Given the description of an element on the screen output the (x, y) to click on. 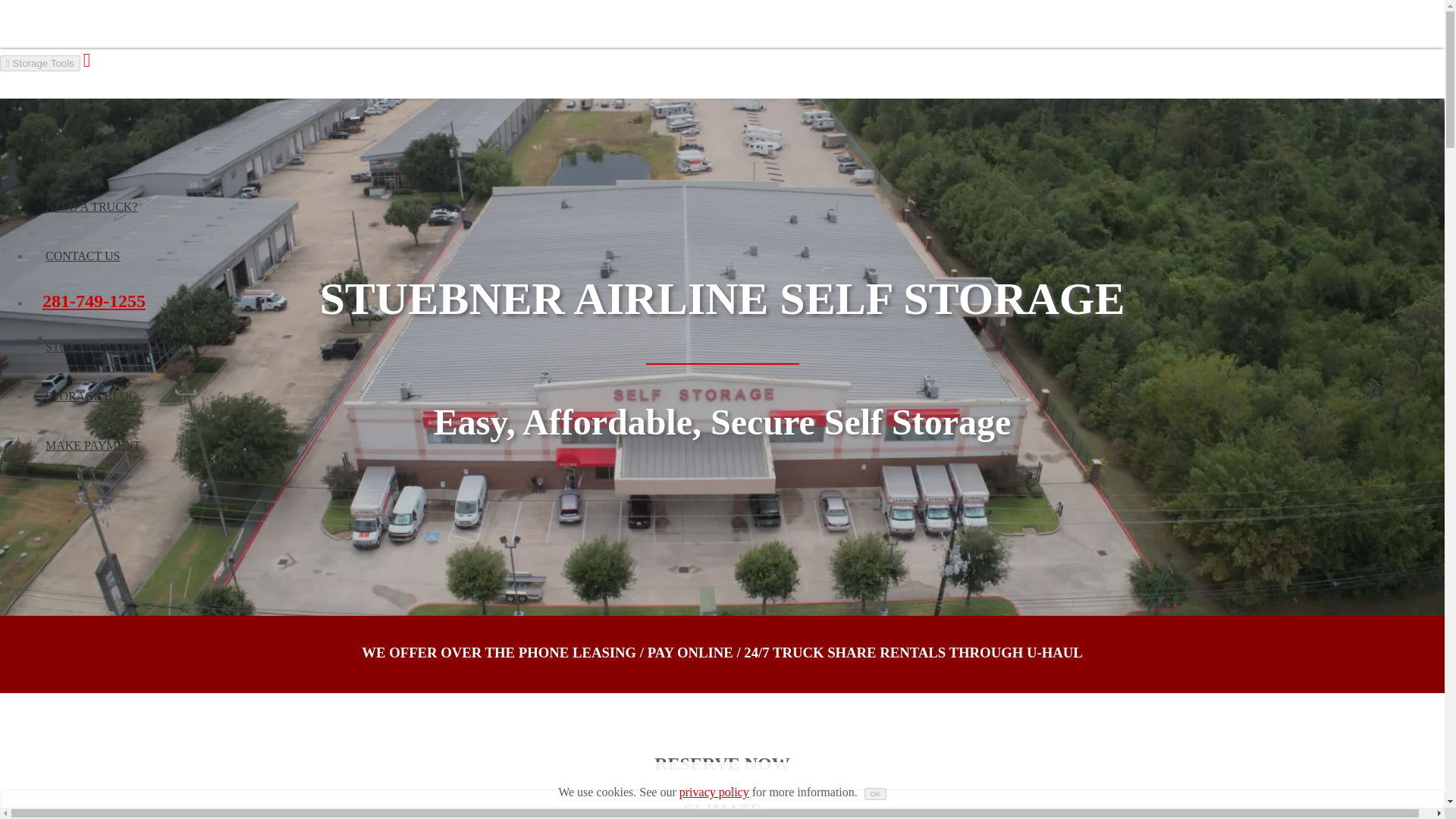
NEED A TRUCK? (90, 206)
Storage Tools (40, 63)
privacy policy (714, 791)
CONTACT US (82, 255)
HOME (63, 108)
MAKE PAYMENT (93, 445)
STORAGE CALCULATOR (114, 346)
STORAGE BLOG (90, 396)
281-749-1255 (93, 301)
OK (875, 793)
RESERVE NOW (88, 157)
